Given the description of an element on the screen output the (x, y) to click on. 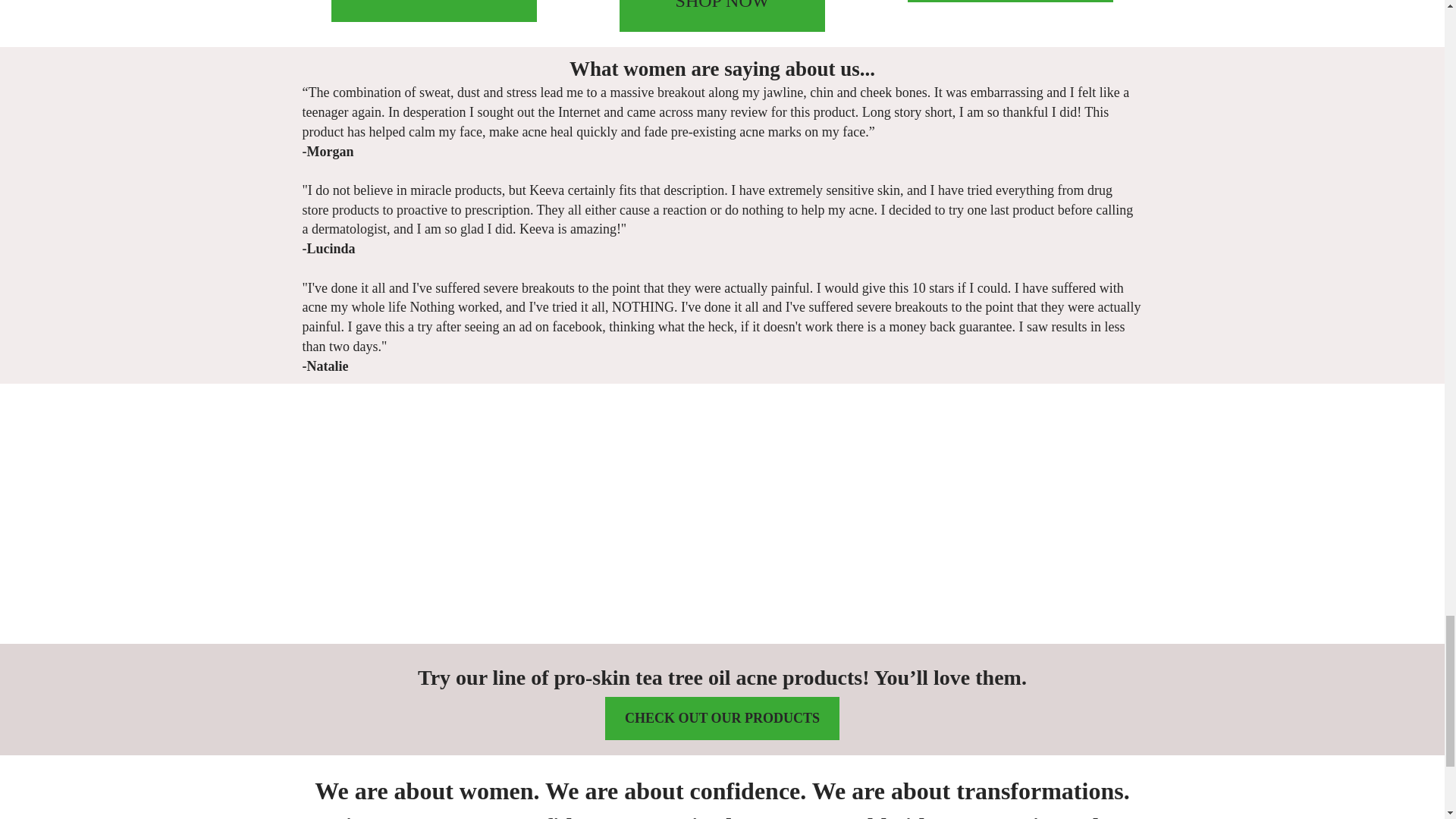
SHOP NOW (1010, 1)
SHOP NOW (722, 15)
SHOP NOW (434, 11)
CHECK OUT OUR PRODUCTS (722, 718)
